Given the description of an element on the screen output the (x, y) to click on. 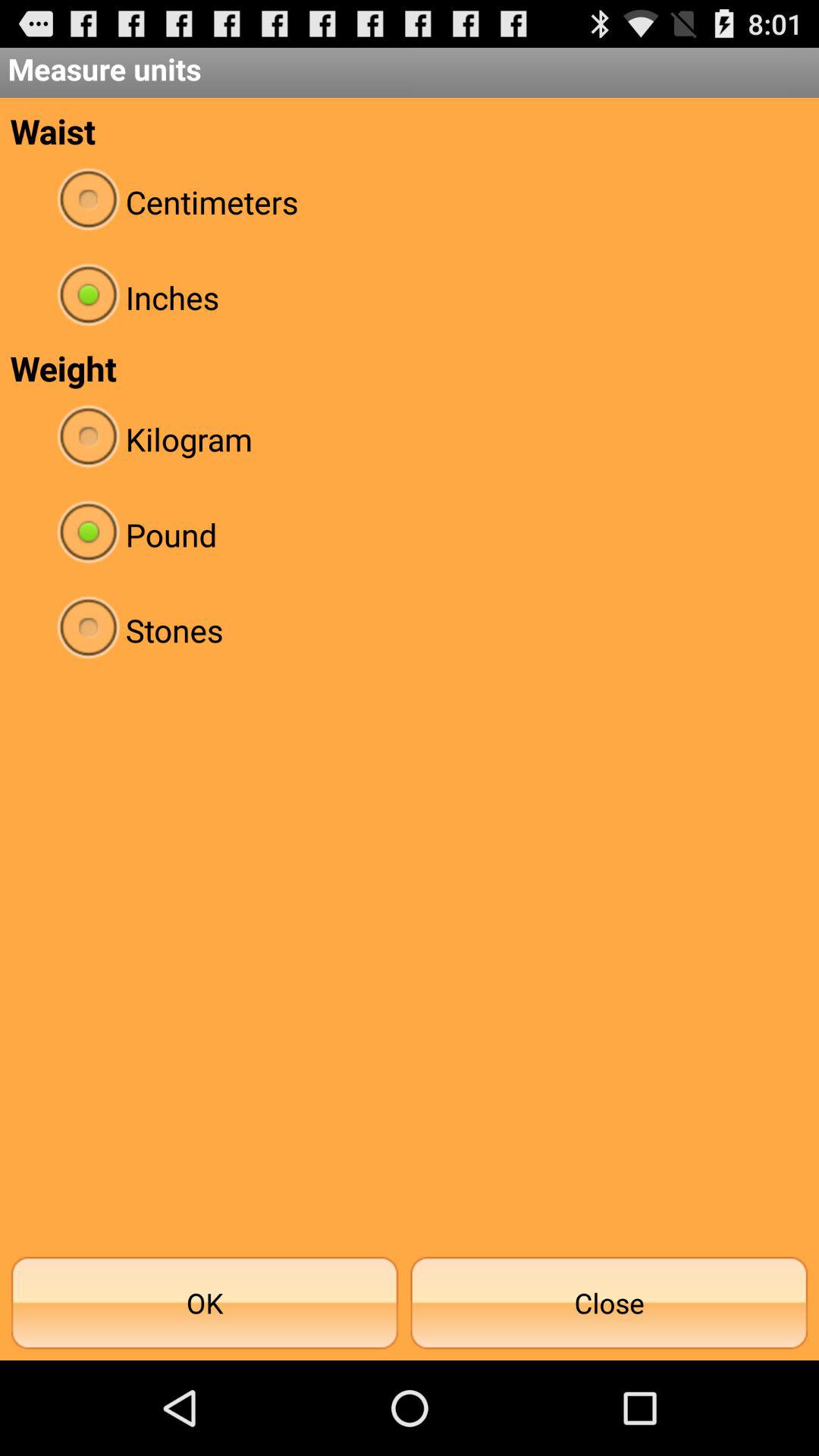
select kilogram item (409, 438)
